Given the description of an element on the screen output the (x, y) to click on. 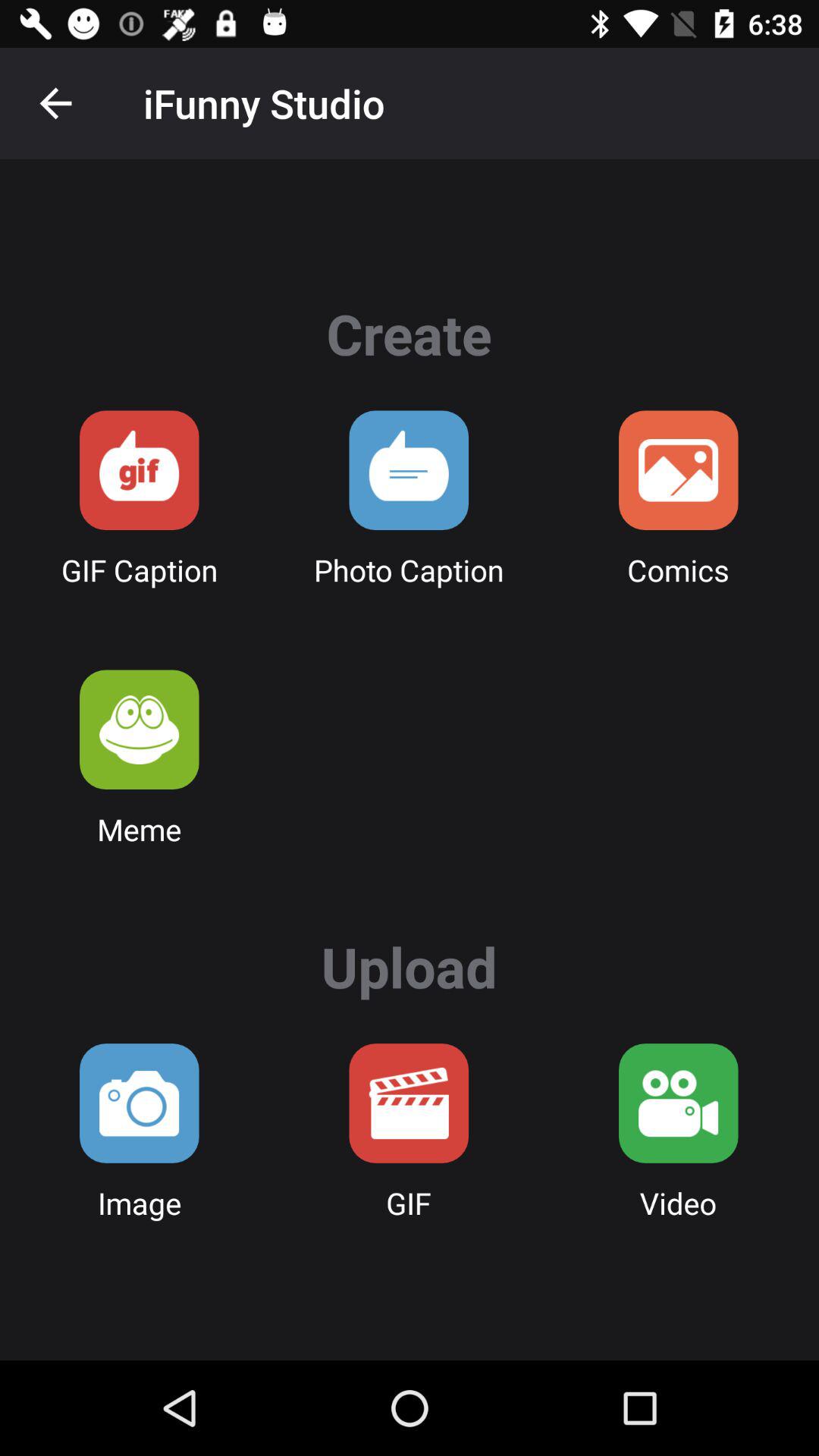
click to create (408, 470)
